Given the description of an element on the screen output the (x, y) to click on. 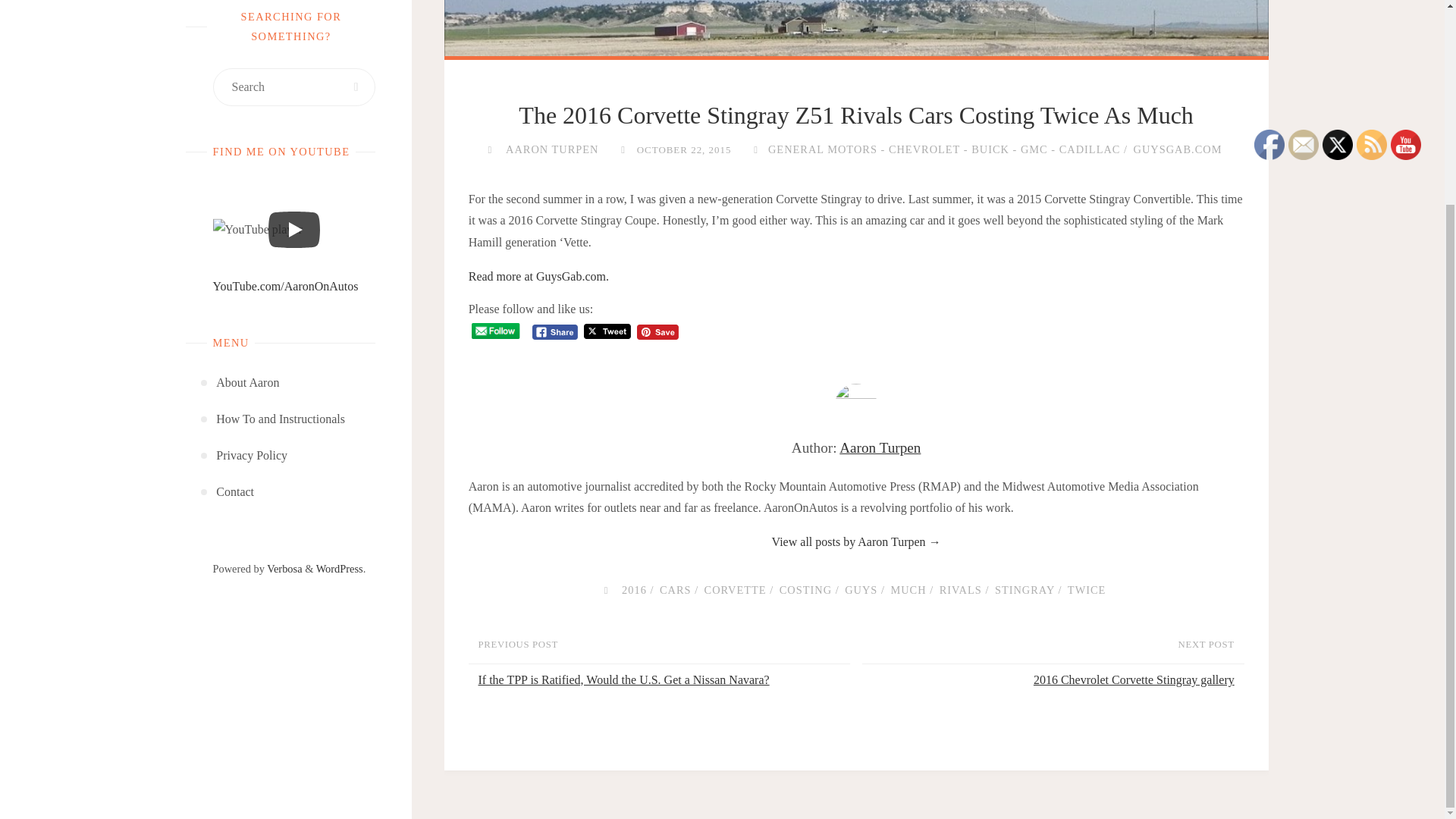
GENERAL MOTORS - CHEVROLET - BUICK - GMC - CADILLAC (942, 149)
Semantic Personal Publishing Platform (338, 568)
Tagged (605, 589)
Author (489, 149)
CARS (674, 589)
Pin Share (657, 332)
Search (355, 86)
Facebook Share (555, 332)
If the TPP is Ratified, Would the U.S. Get a Nissan Navara? (662, 680)
RIVALS (959, 589)
